Given the description of an element on the screen output the (x, y) to click on. 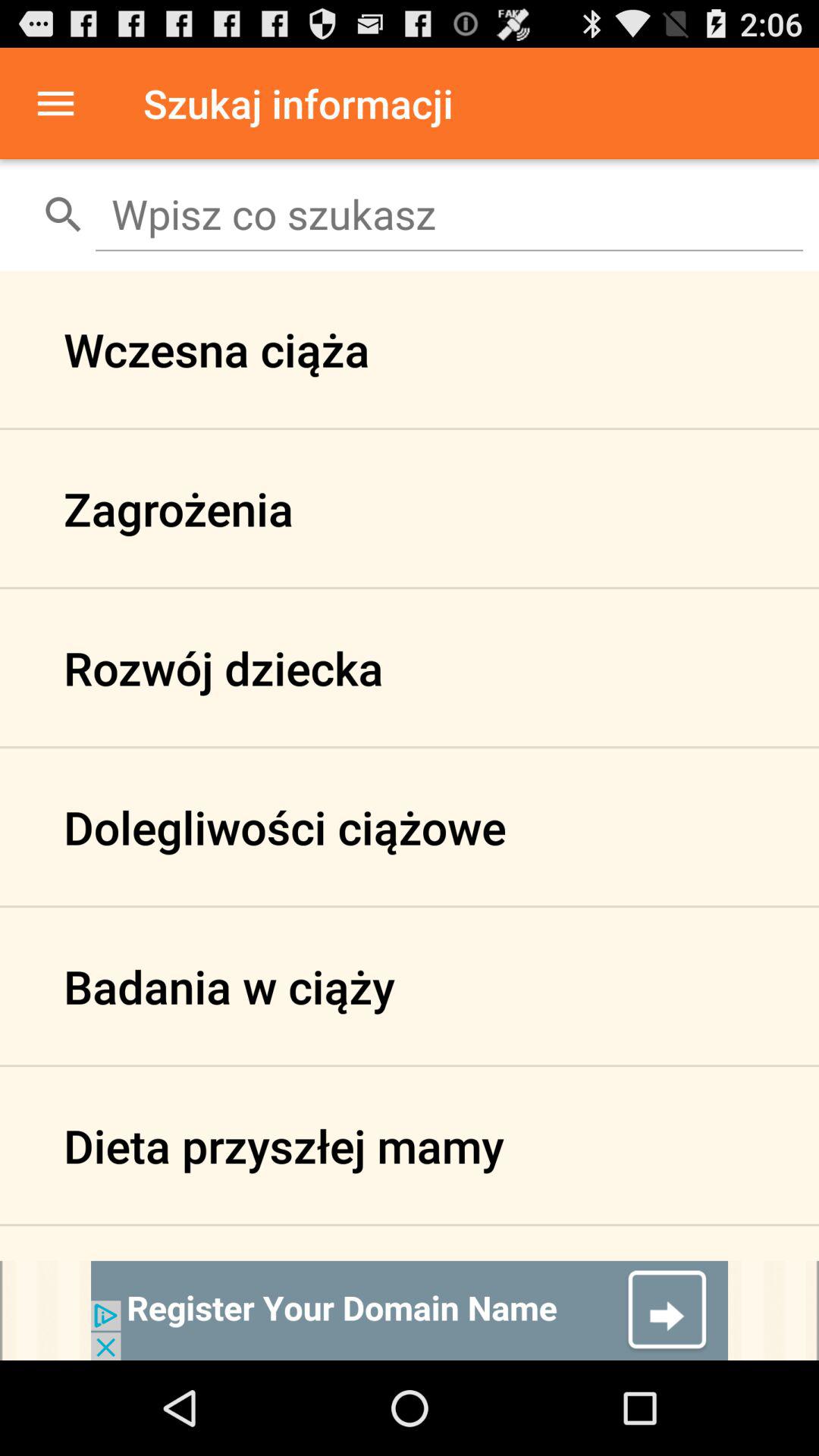
click on the search icon (63, 214)
